Given the description of an element on the screen output the (x, y) to click on. 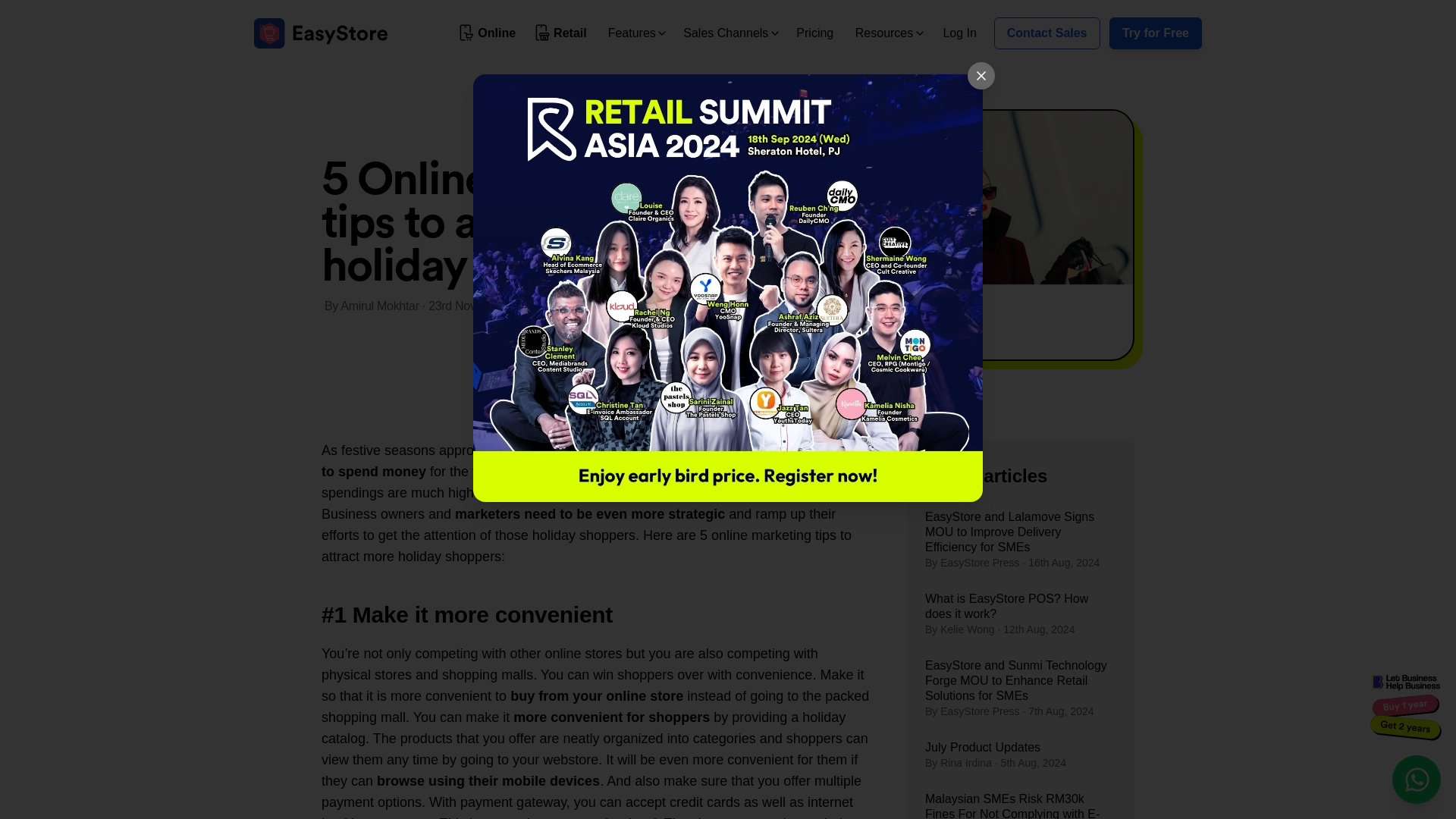
Pricing (814, 32)
Log In (958, 32)
Retail (561, 33)
Online (488, 33)
Try for Free (1155, 33)
Contact Sales (1047, 33)
